Given the description of an element on the screen output the (x, y) to click on. 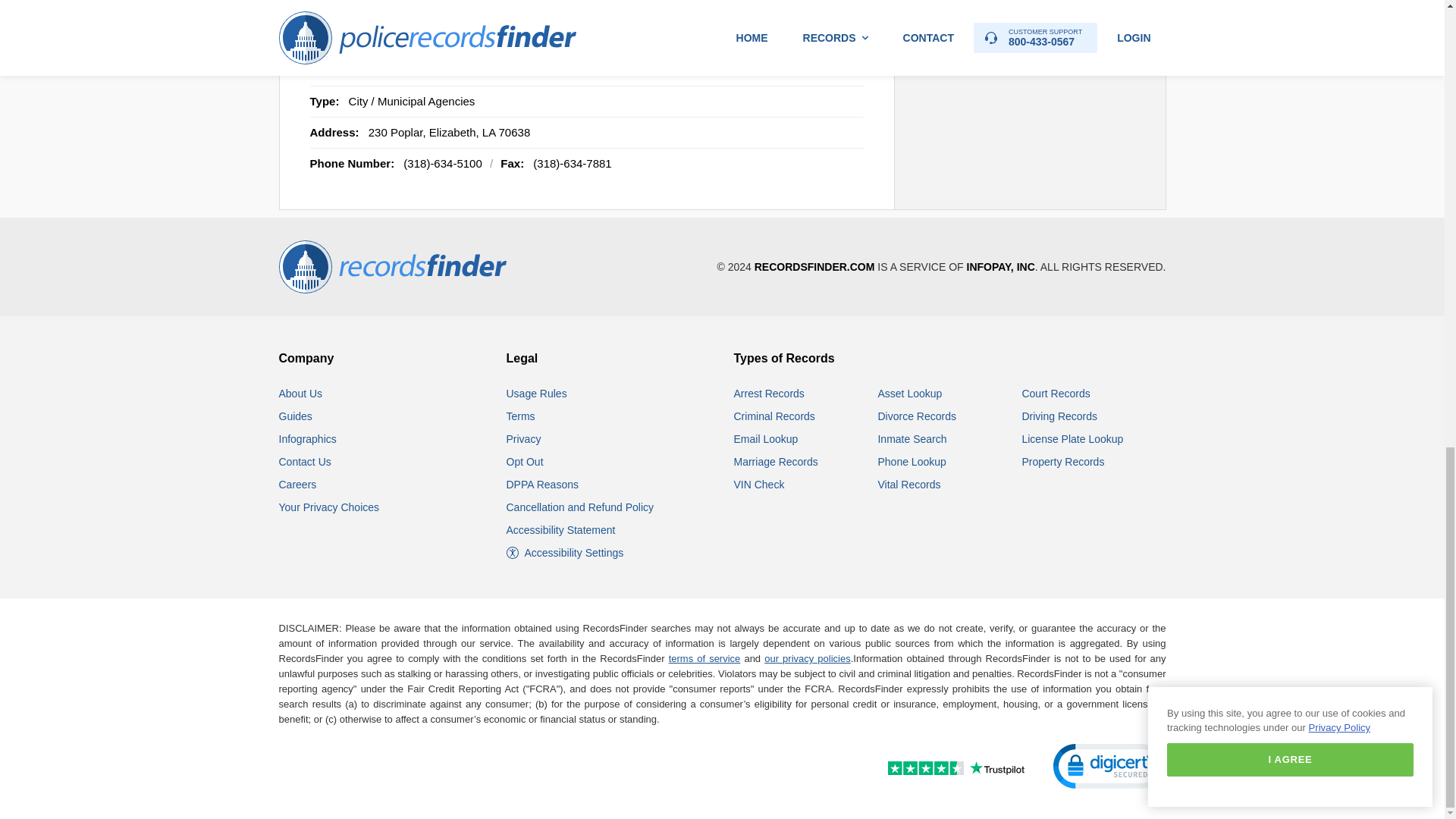
RecordsFinder.com Cancellation and Refund Policy (579, 507)
View Public Records Infographics and Statistics (307, 439)
Guides and How tos (296, 416)
RecordsFinder.com Terms and Conditions (520, 416)
Customer reviews powered by Trustpilot (922, 769)
RecordsFinder.com DPPA Reasons (542, 484)
Contact RecordsFinder.com (305, 461)
Your Privacy Choices (329, 507)
Careers at RecordsFinder.com (298, 484)
RecordsFinder.com Accessibility Statement (560, 530)
RecordsFinder.com Usage Rules (536, 393)
RecordsFinder.com Opt Out Instructions (524, 461)
About RecordsFinder.com (301, 393)
RecordsFinder.com Privacy Policy (523, 439)
